Given the description of an element on the screen output the (x, y) to click on. 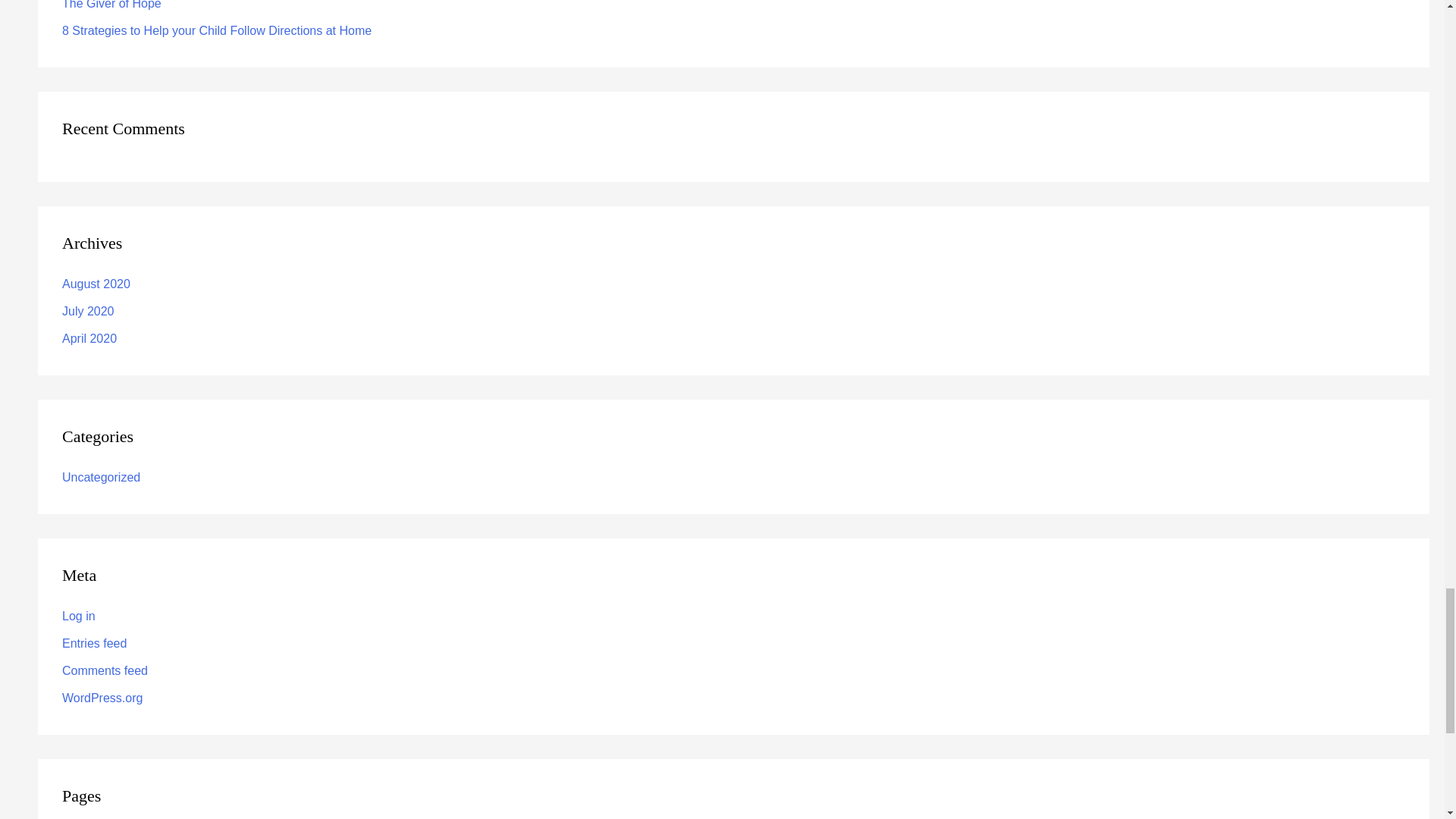
August 2020 (96, 283)
Uncategorized (100, 477)
The Giver of Hope (111, 4)
Log in (79, 615)
July 2020 (88, 310)
WordPress.org (102, 697)
8 Strategies to Help your Child Follow Directions at Home (216, 30)
Comments feed (105, 670)
April 2020 (89, 338)
Entries feed (94, 643)
